Given the description of an element on the screen output the (x, y) to click on. 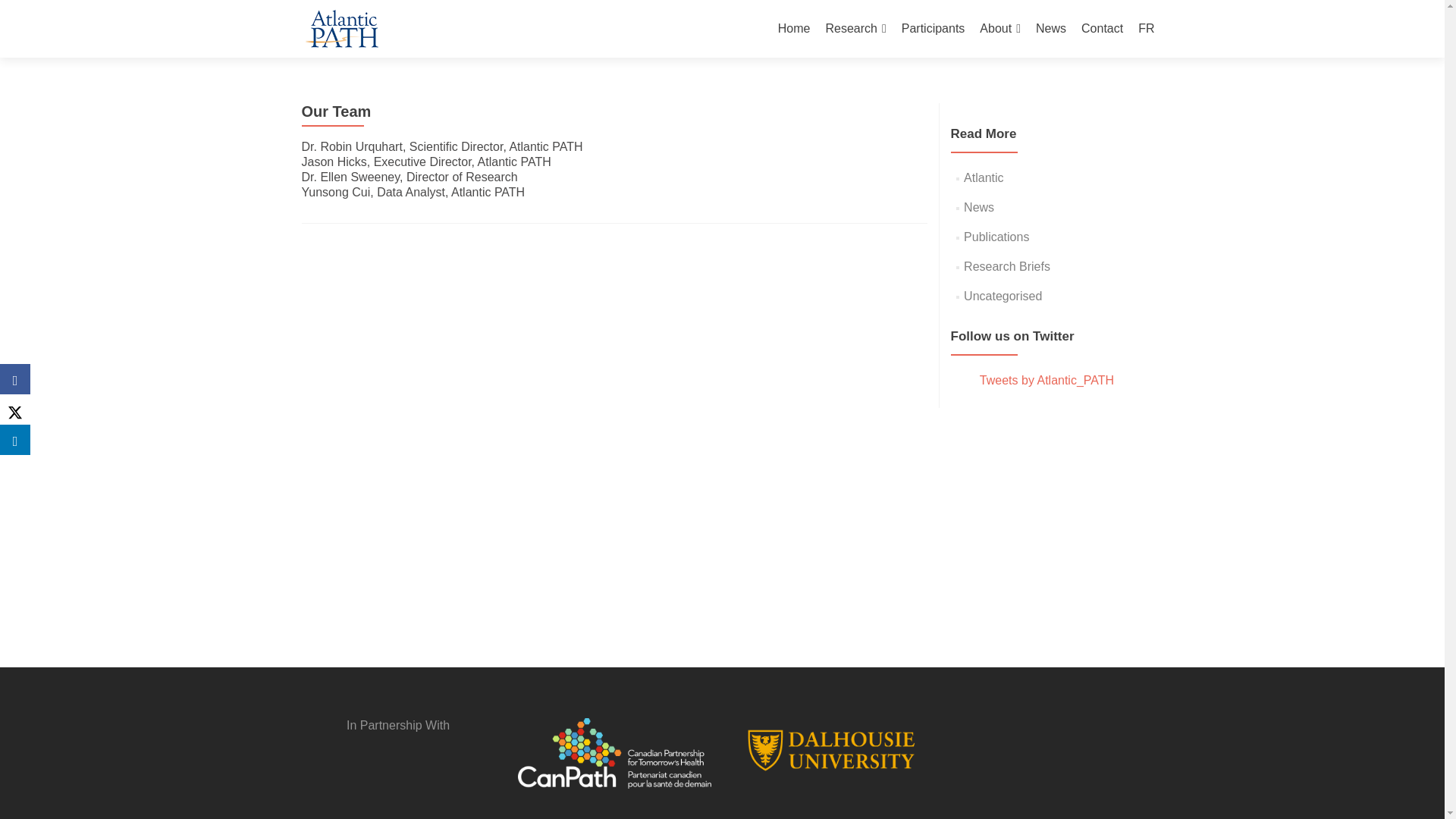
Jason Hicks, Executive Director, Atlantic PATH (426, 161)
Dr. Ellen Sweeney, Director of Research (409, 176)
Research Briefs (1006, 266)
Contact (1101, 28)
About (999, 28)
Uncategorised (1002, 295)
Home (793, 28)
Dr. Robin Urquhart, Scientific Director, Atlantic PATH (442, 146)
Skip to content (818, 9)
